Given the description of an element on the screen output the (x, y) to click on. 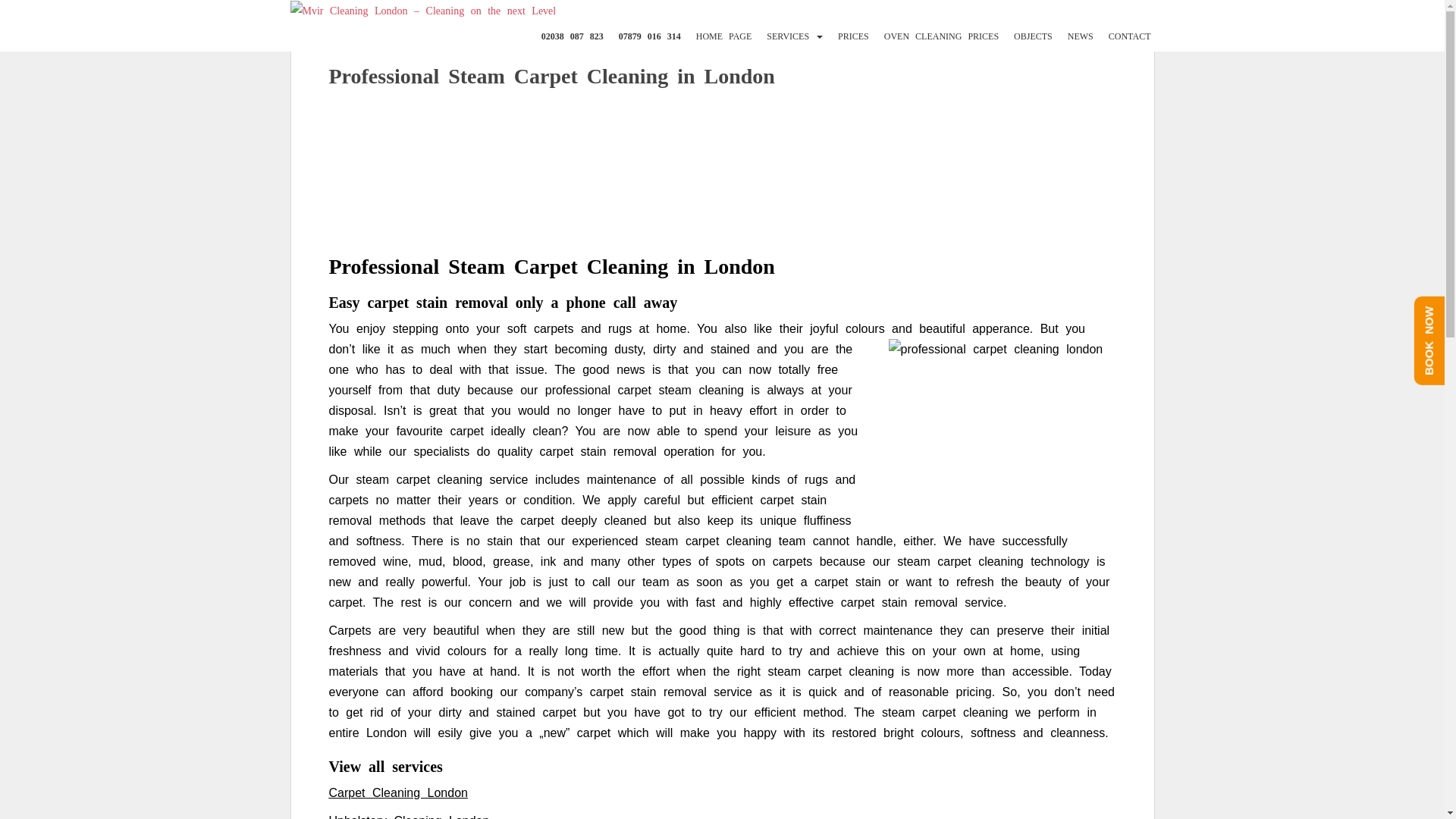
SERVICES (788, 36)
OVEN CLEANING PRICES (940, 36)
OBJECTS (1032, 36)
Upholstery Cleaning London (409, 816)
Carpet Cleaning London (398, 792)
Call us at 07879 016 314  (649, 36)
PRICES (853, 36)
HOME PAGE (723, 36)
07879 016 314 (649, 36)
CONTACT (1129, 36)
02038 087 823 (572, 36)
